Given the description of an element on the screen output the (x, y) to click on. 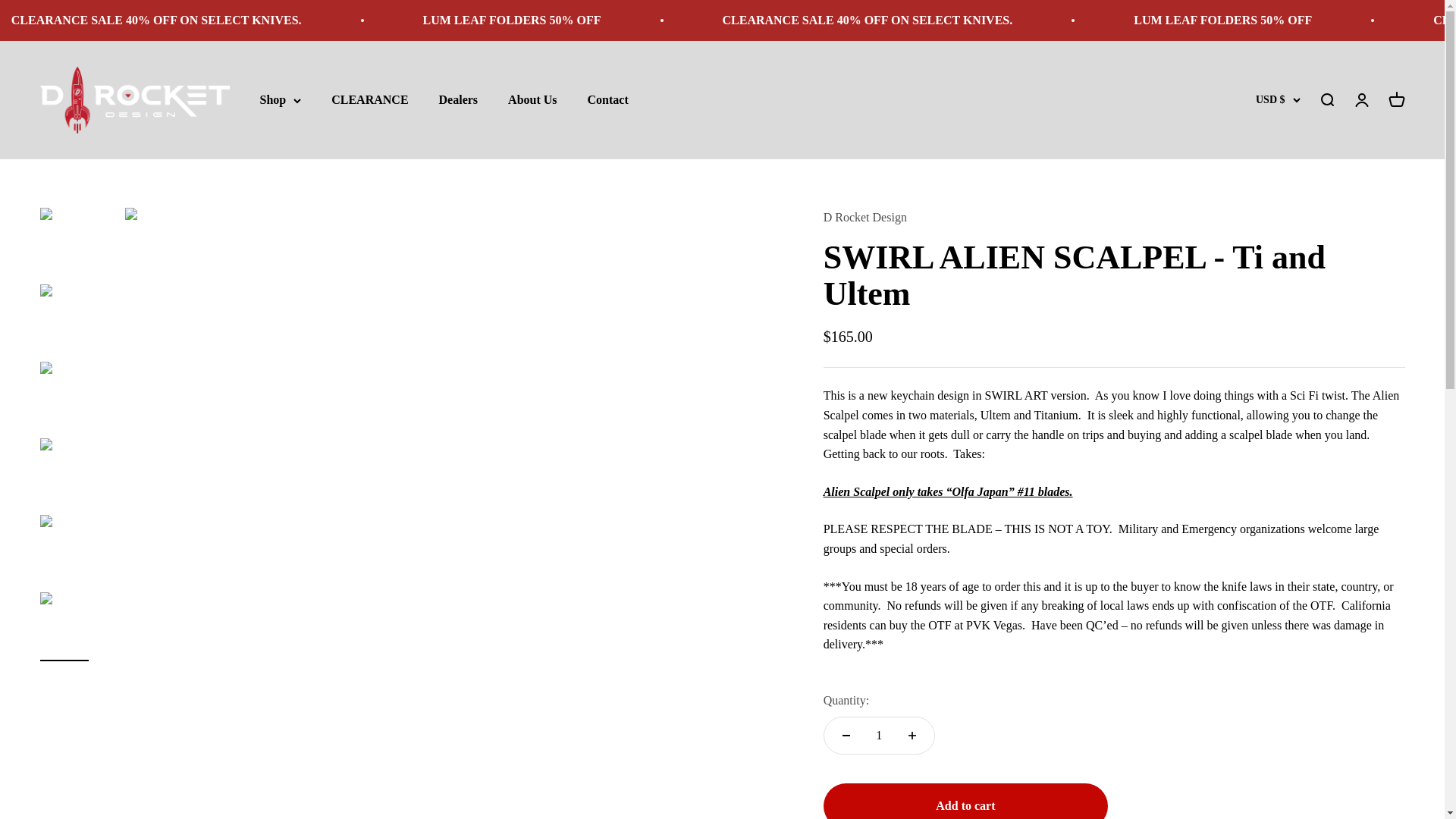
About Us (532, 99)
Contact (608, 99)
CLEARANCE (369, 99)
D Rocket Design (133, 99)
1 (878, 735)
Dealers (459, 99)
